Given the description of an element on the screen output the (x, y) to click on. 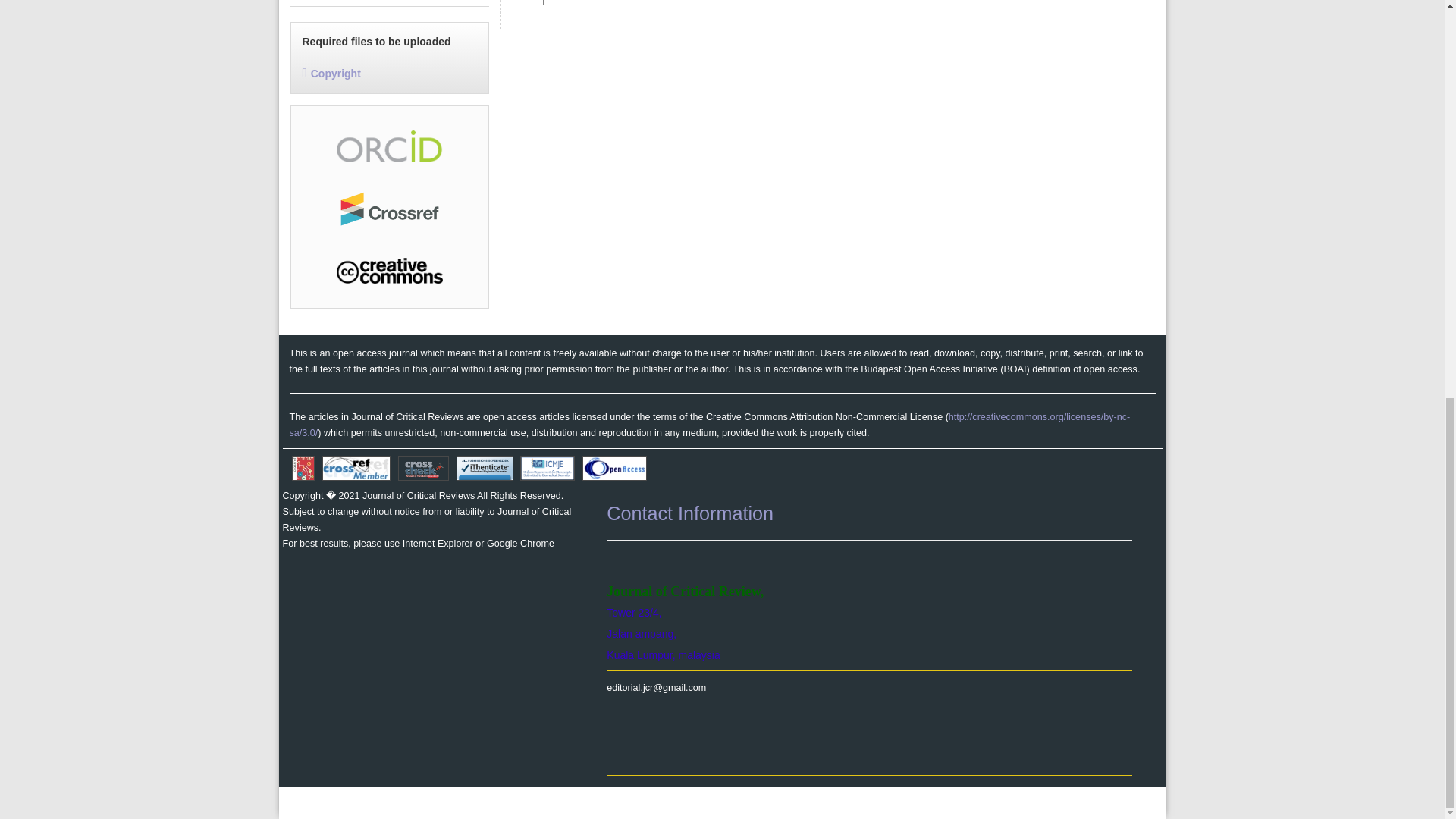
Copyright (330, 73)
